Given the description of an element on the screen output the (x, y) to click on. 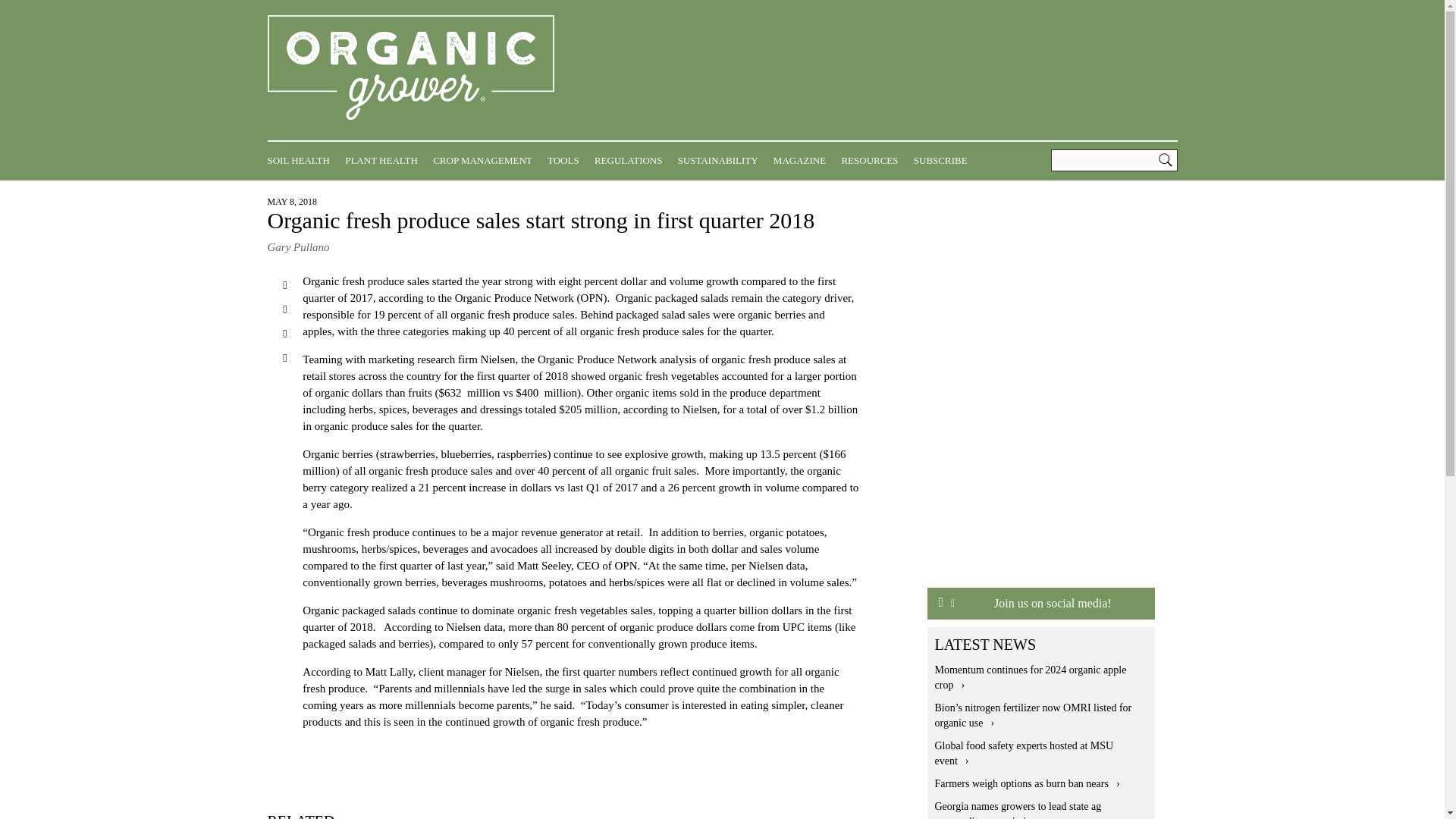
Farmers weigh options as burn ban nears (1026, 783)
SOIL HEALTH (301, 160)
Momentum continues for 2024 organic apple crop (1029, 677)
CROP MANAGEMENT (486, 160)
PLANT HEALTH (385, 160)
SUSTAINABILITY (721, 160)
REGULATIONS (631, 160)
MAGAZINE (802, 160)
Georgia names growers to lead state ag commodity commissions (1017, 809)
RESOURCES (873, 160)
